Given the description of an element on the screen output the (x, y) to click on. 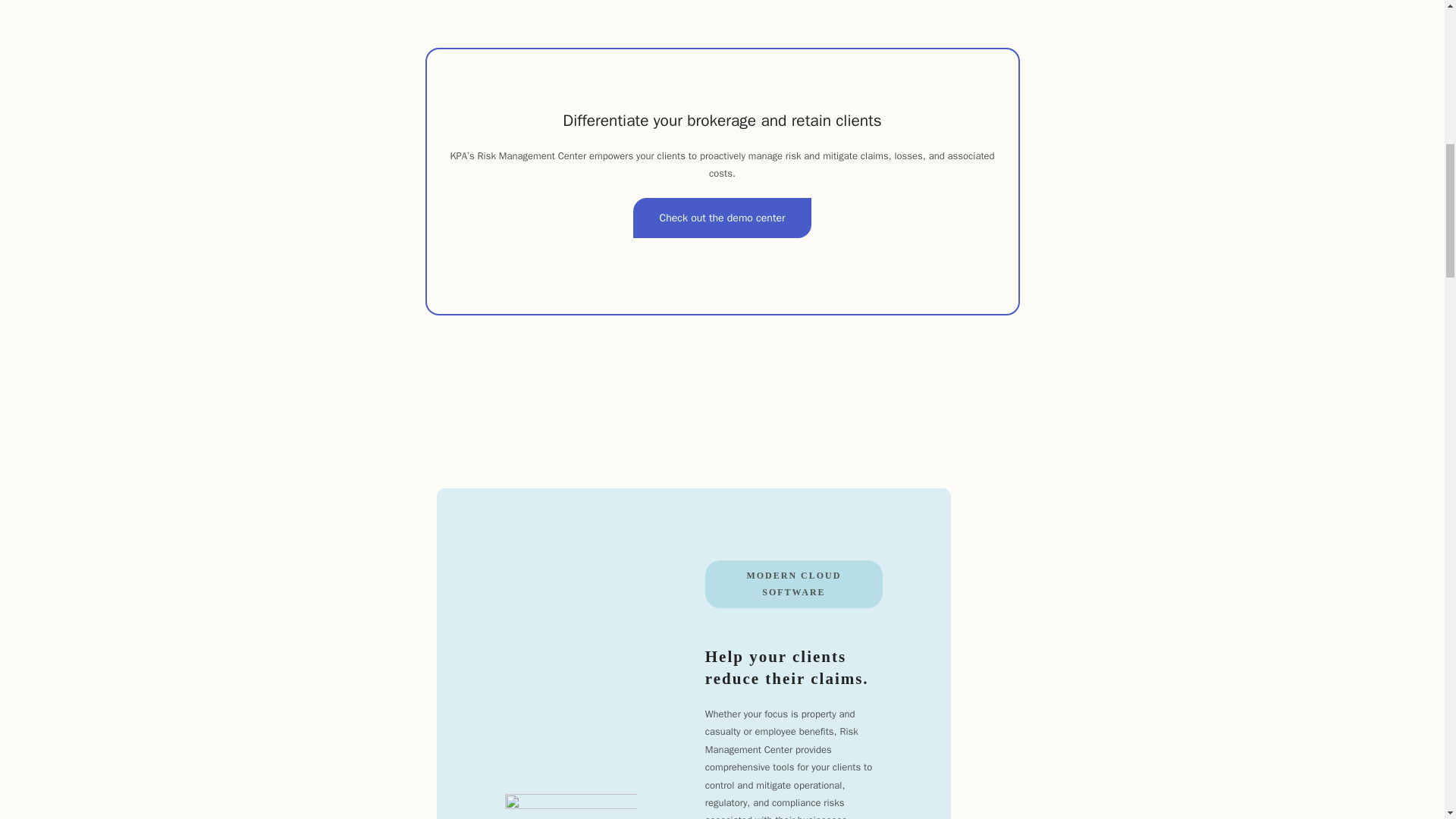
co - industry insurance rmc software (571, 806)
